Given the description of an element on the screen output the (x, y) to click on. 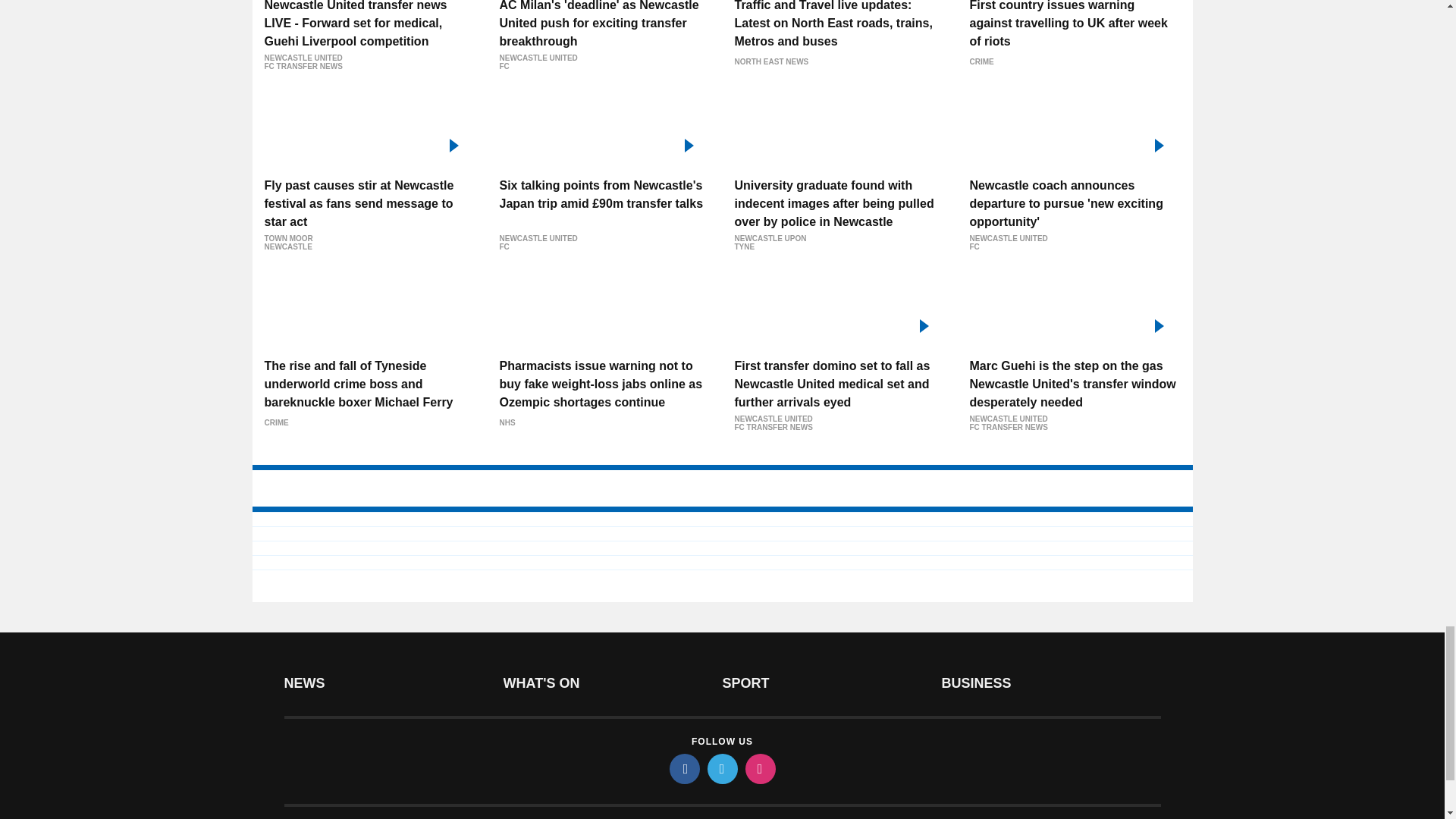
instagram (759, 768)
twitter (721, 768)
facebook (683, 768)
